Given the description of an element on the screen output the (x, y) to click on. 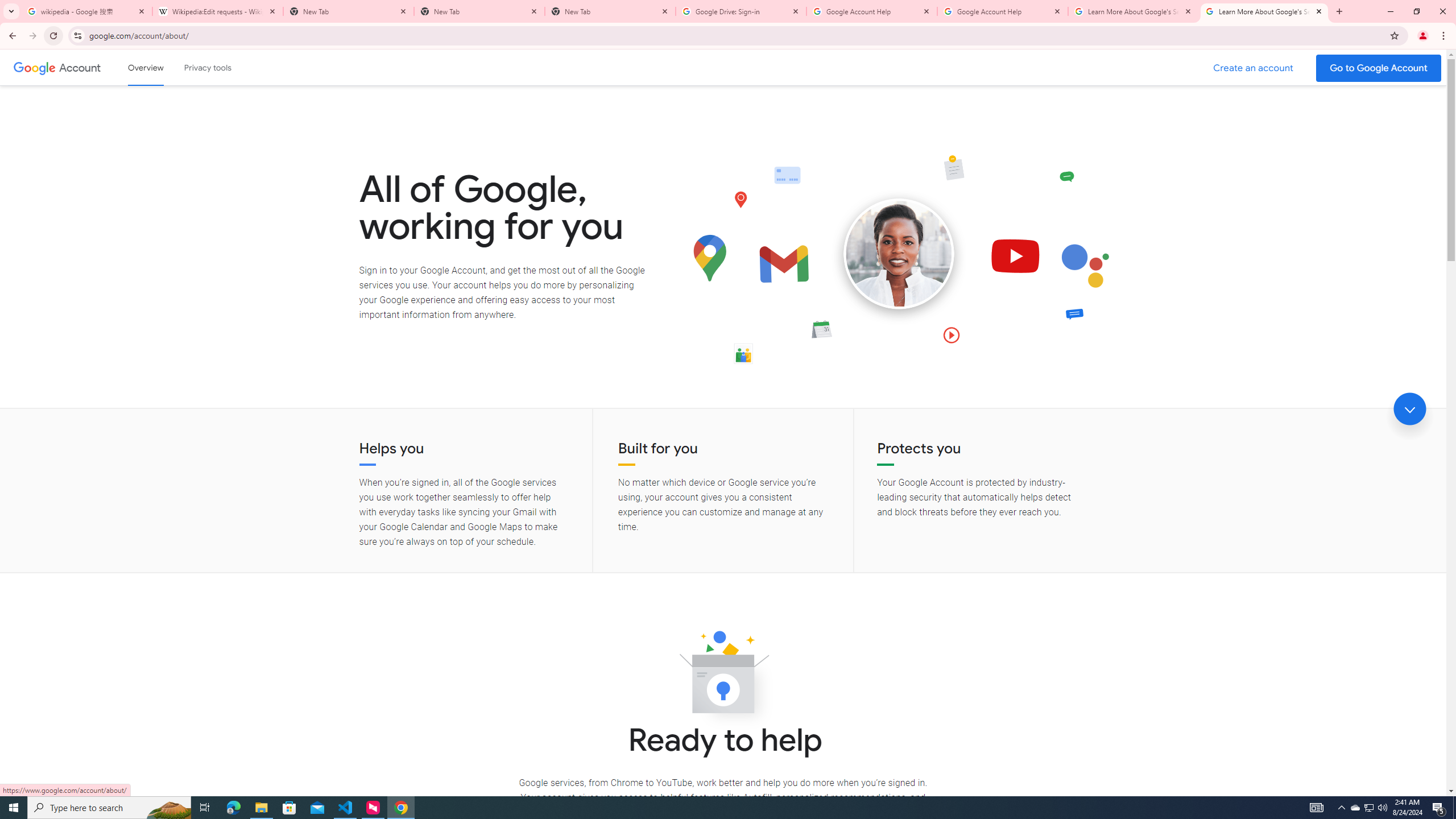
New Tab (479, 11)
Ready to help (722, 675)
